Given the description of an element on the screen output the (x, y) to click on. 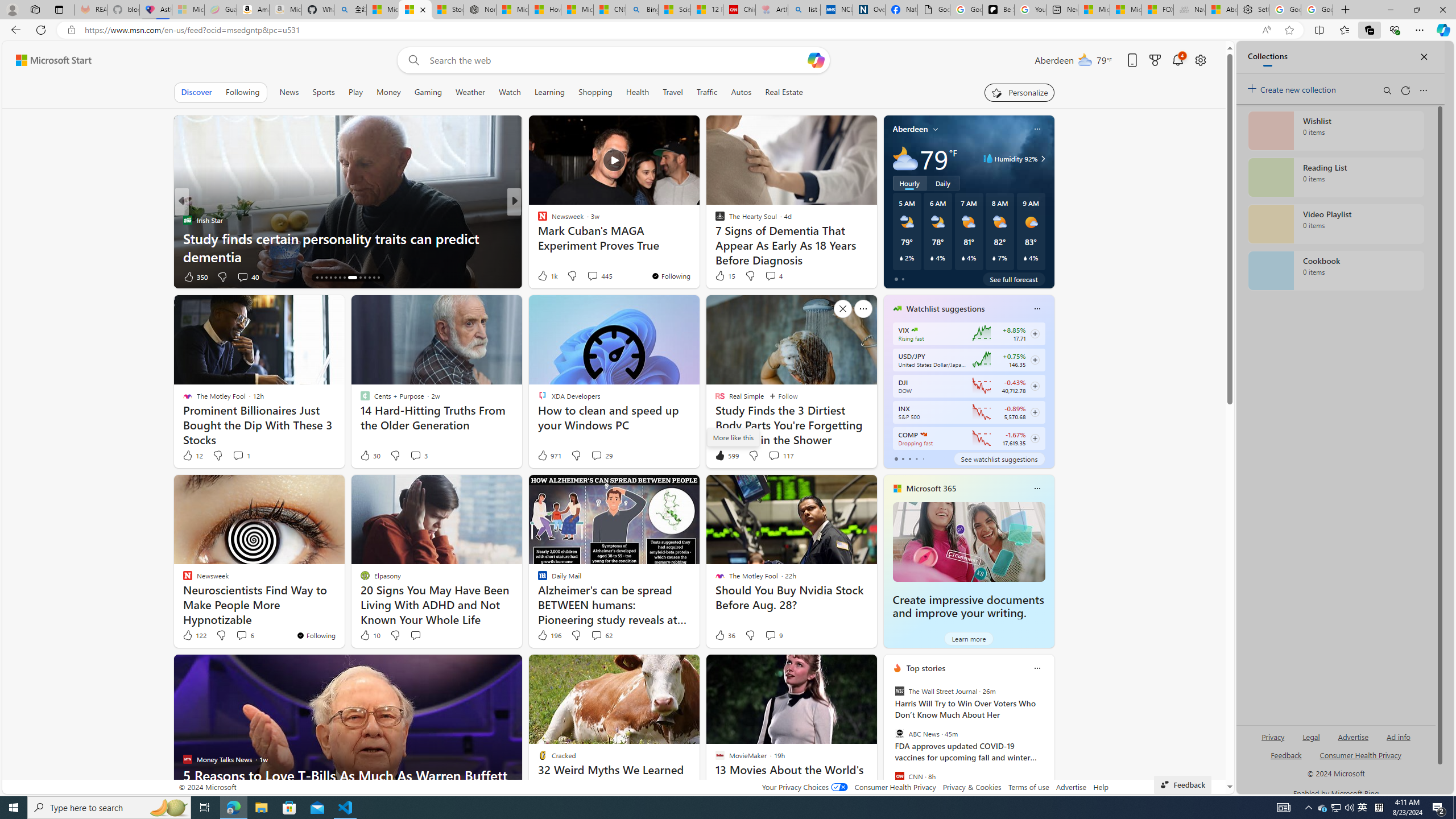
AutomationID: tab-20 (344, 277)
My location (936, 128)
View comments 62 Comment (601, 634)
View comments 40 Comment (241, 276)
NASDAQ (923, 434)
